Given the description of an element on the screen output the (x, y) to click on. 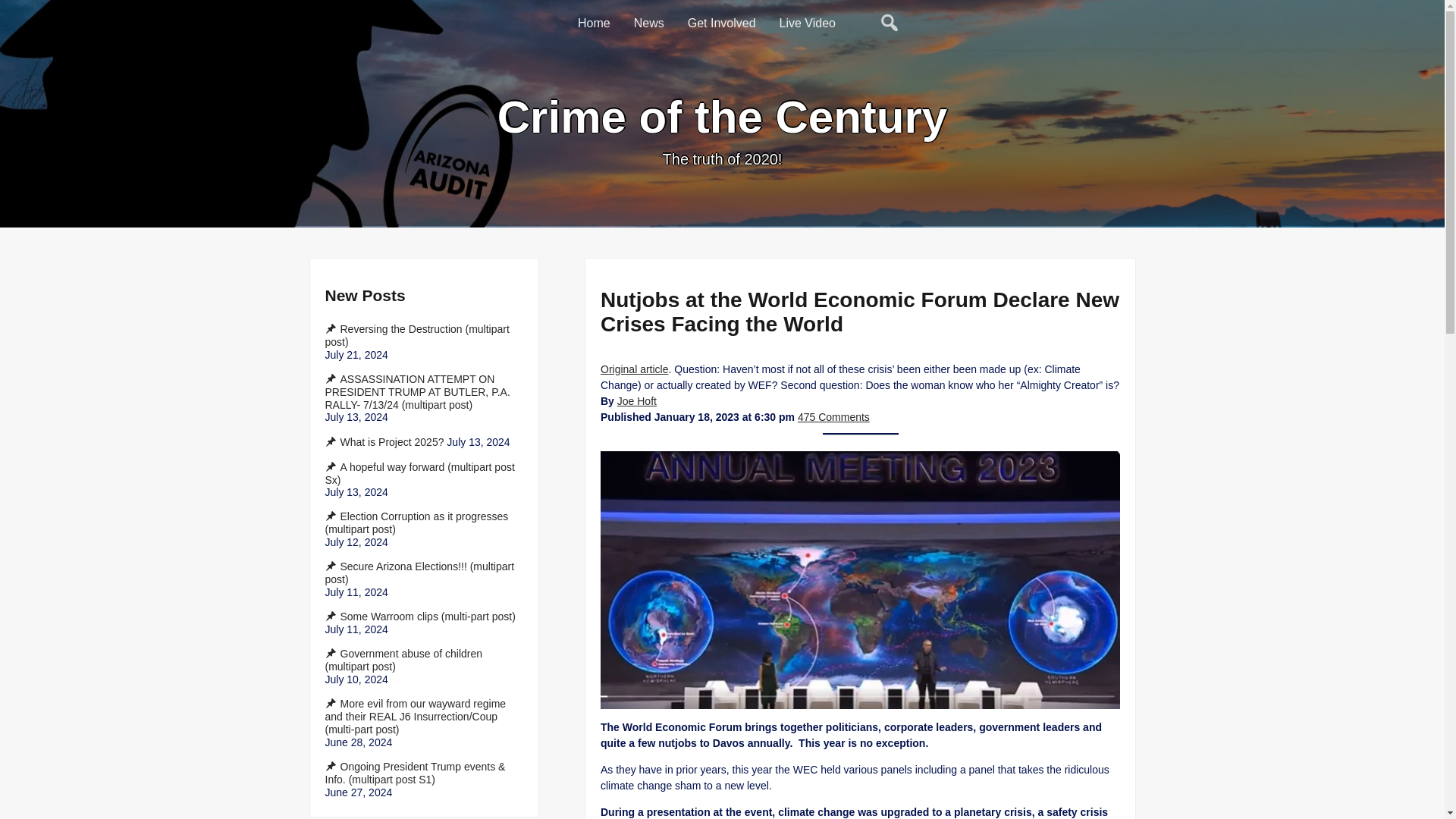
What is Project 2025? (384, 441)
News (650, 24)
Joe Hoft (635, 400)
Home (594, 24)
Crime of the Century (722, 116)
Original article (633, 369)
Get Involved (722, 24)
Live Video (807, 24)
475 Comments (832, 417)
